Given the description of an element on the screen output the (x, y) to click on. 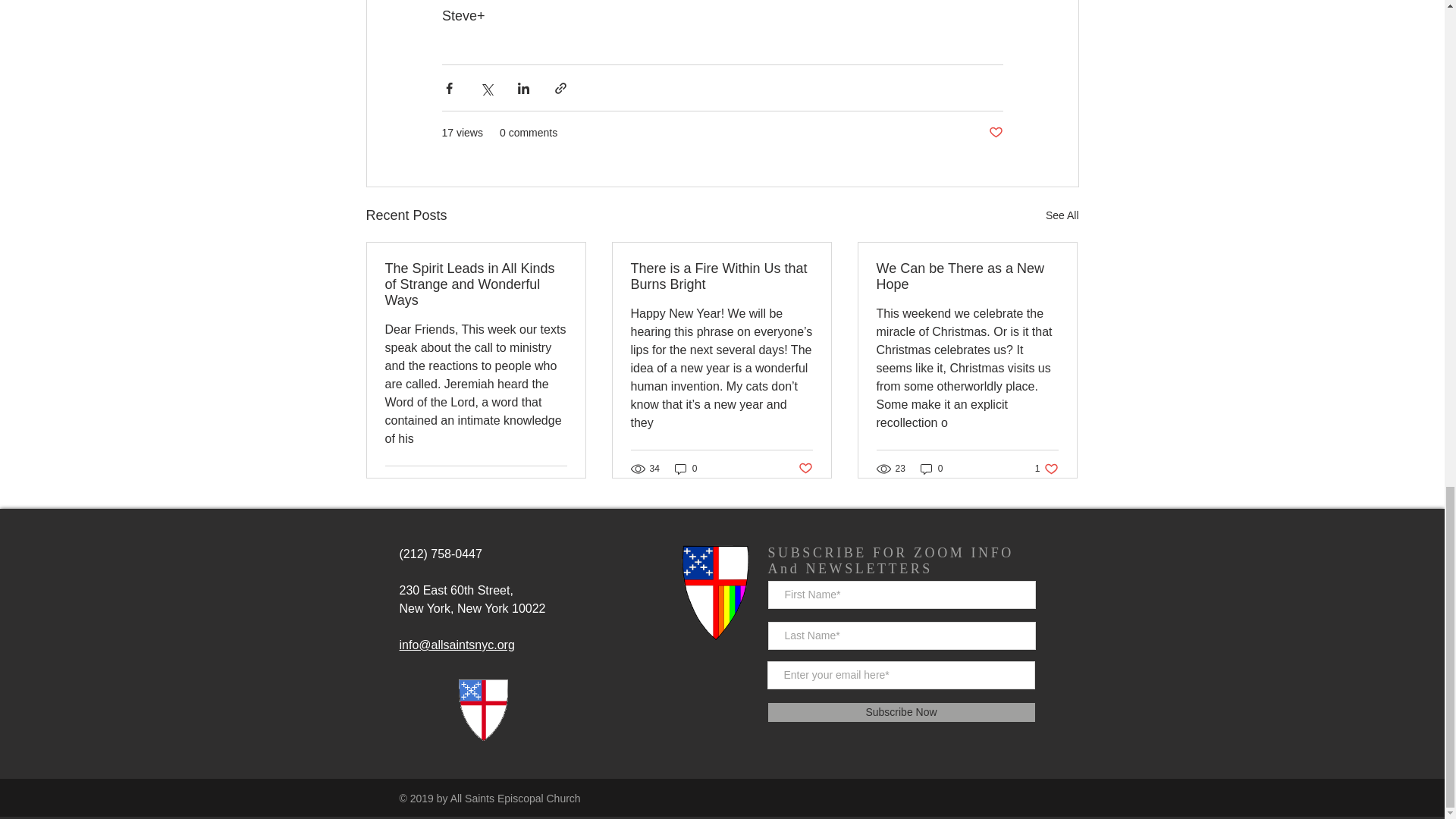
There is a Fire Within Us that Burns Bright (721, 276)
We Can be There as a New Hope (967, 276)
0 (931, 468)
Post not marked as liked (804, 467)
Post not marked as liked (558, 484)
0 (685, 468)
See All (1046, 468)
Subscribe Now (1061, 215)
Post not marked as liked (900, 711)
The Spirit Leads in All Kinds of Strange and Wonderful Ways (995, 132)
